Given the description of an element on the screen output the (x, y) to click on. 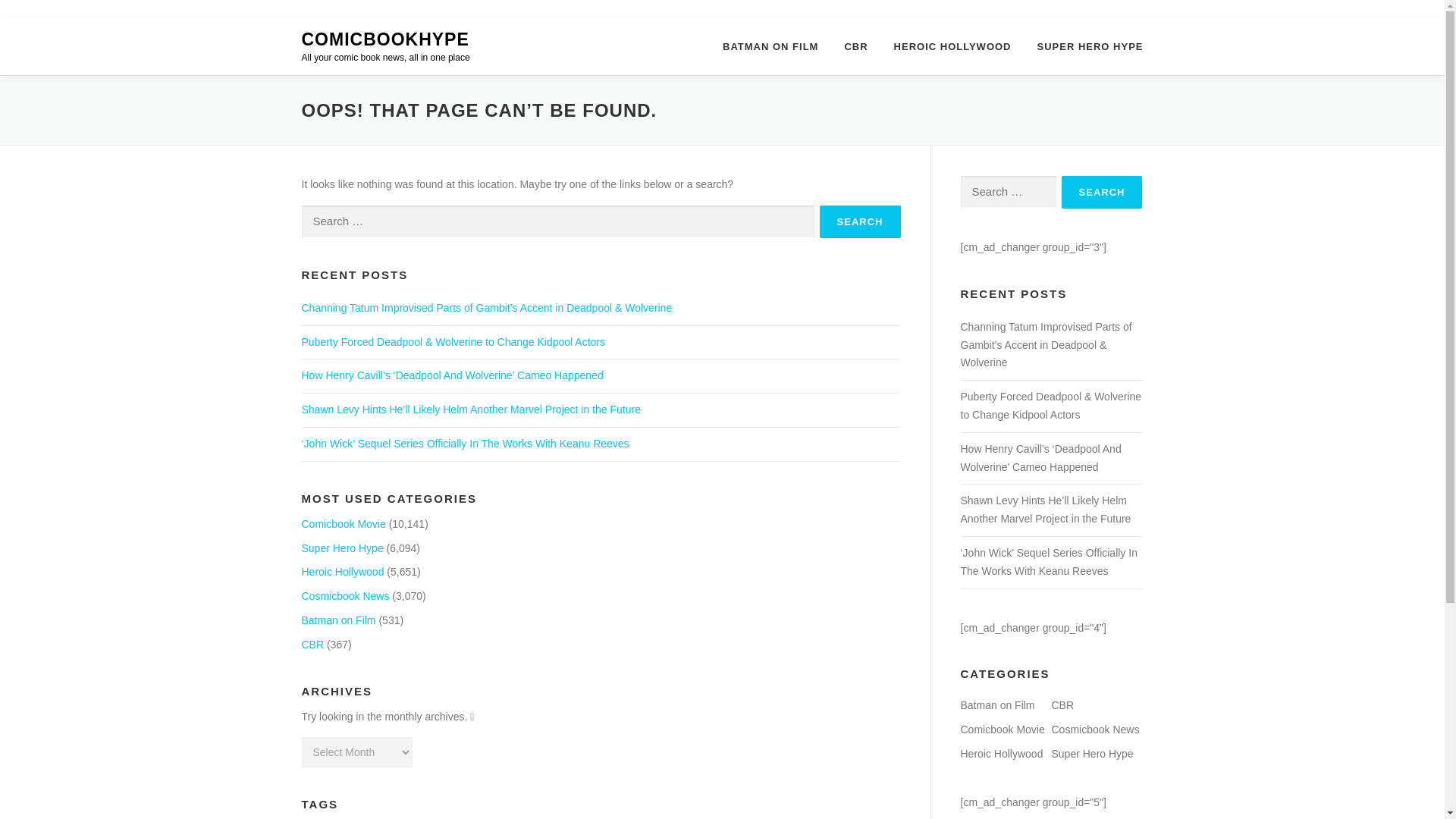
Search (1101, 192)
Batman on Film (338, 620)
HEROIC HOLLYWOOD (952, 46)
COMICBOOKHYPE (384, 39)
Skip to content (34, 27)
SUPER HERO HYPE (1083, 46)
Search (860, 221)
BATMAN ON FILM (770, 46)
Search (860, 221)
Cosmicbook News (345, 595)
CBR (312, 644)
Heroic Hollywood (342, 571)
Comicbook Movie (343, 523)
Super Hero Hype (342, 548)
Search (1101, 192)
